Given the description of an element on the screen output the (x, y) to click on. 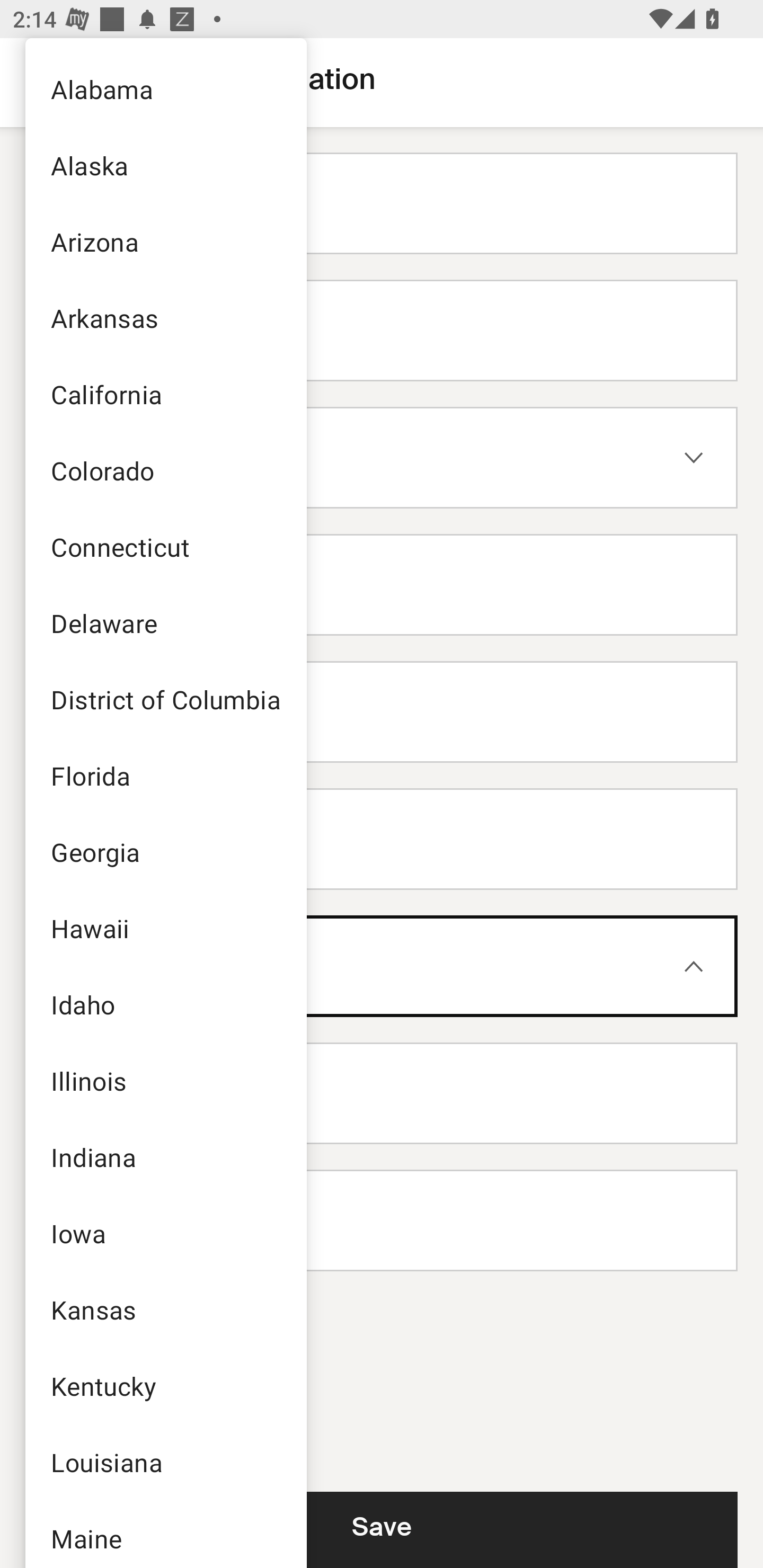
Alabama (165, 88)
Alaska (165, 165)
Arizona (165, 241)
Arkansas (165, 317)
California (165, 393)
Colorado (165, 470)
Connecticut (165, 546)
Delaware (165, 622)
District of Columbia (165, 698)
Florida (165, 774)
Georgia (165, 851)
Hawaii (165, 927)
Idaho (165, 1003)
Illinois (165, 1080)
Indiana (165, 1156)
Iowa (165, 1232)
Kansas (165, 1308)
Kentucky (165, 1384)
Louisiana (165, 1461)
Maine (165, 1534)
